Given the description of an element on the screen output the (x, y) to click on. 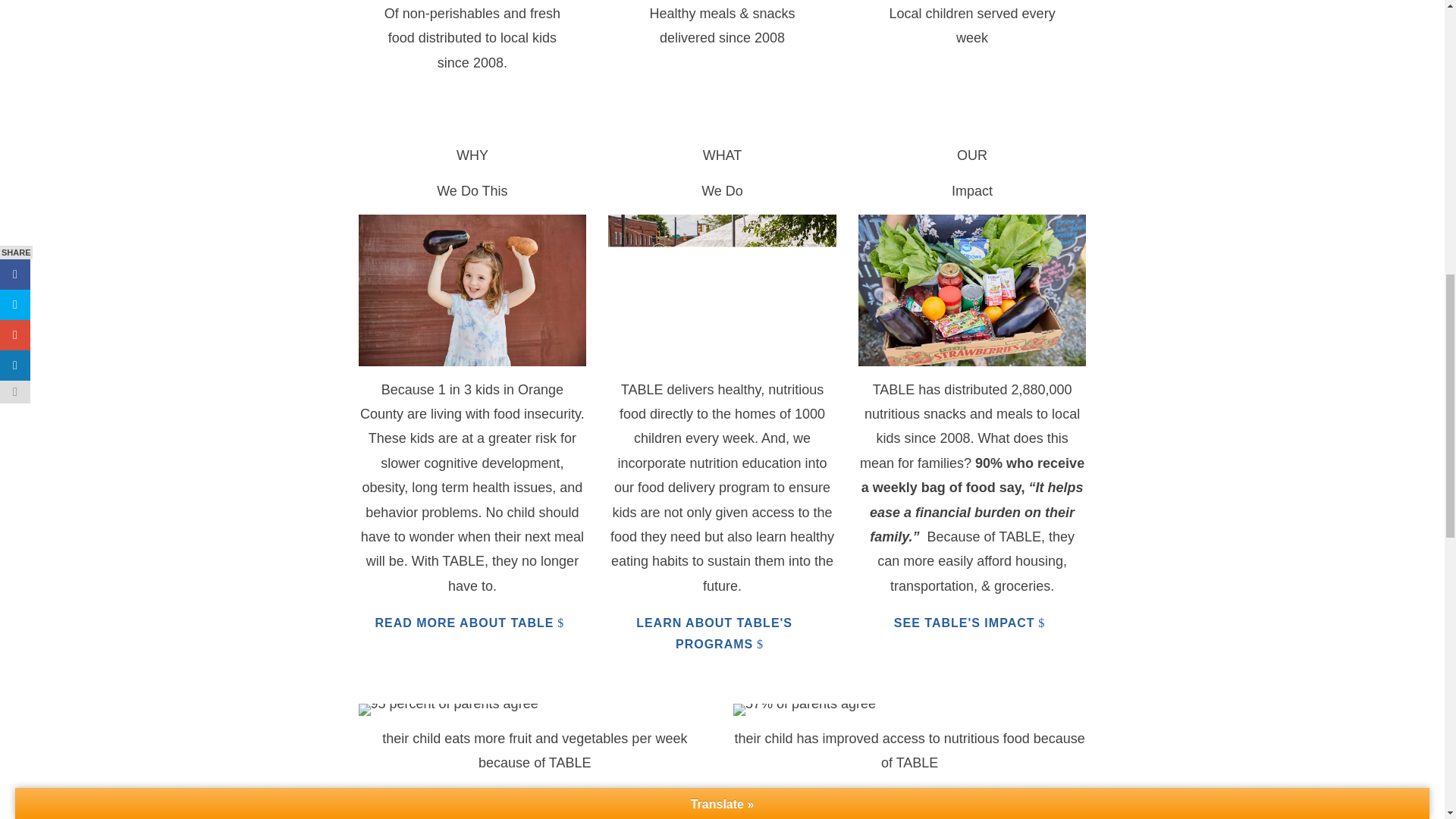
Tessa holding potato (472, 290)
Loading cars (721, 290)
